Given the description of an element on the screen output the (x, y) to click on. 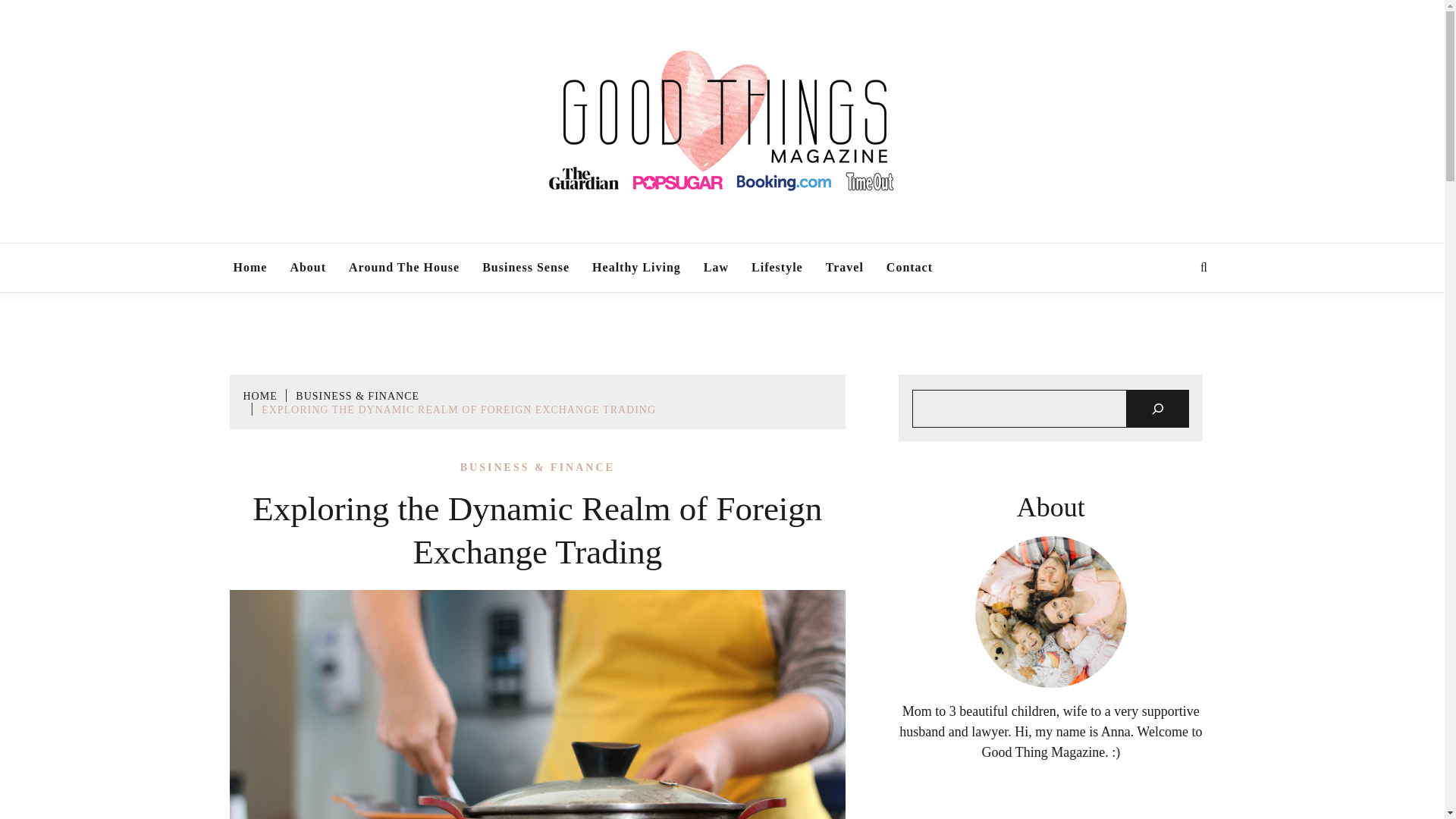
Business Sense (526, 267)
Lifestyle (777, 267)
About (307, 267)
Travel (844, 267)
HOME (259, 396)
GOOD THINGS MAGAZINE (891, 235)
Healthy Living (636, 267)
EXPLORING THE DYNAMIC REALM OF FOREIGN EXCHANGE TRADING (459, 409)
Contact (909, 267)
Around The House (404, 267)
